Given the description of an element on the screen output the (x, y) to click on. 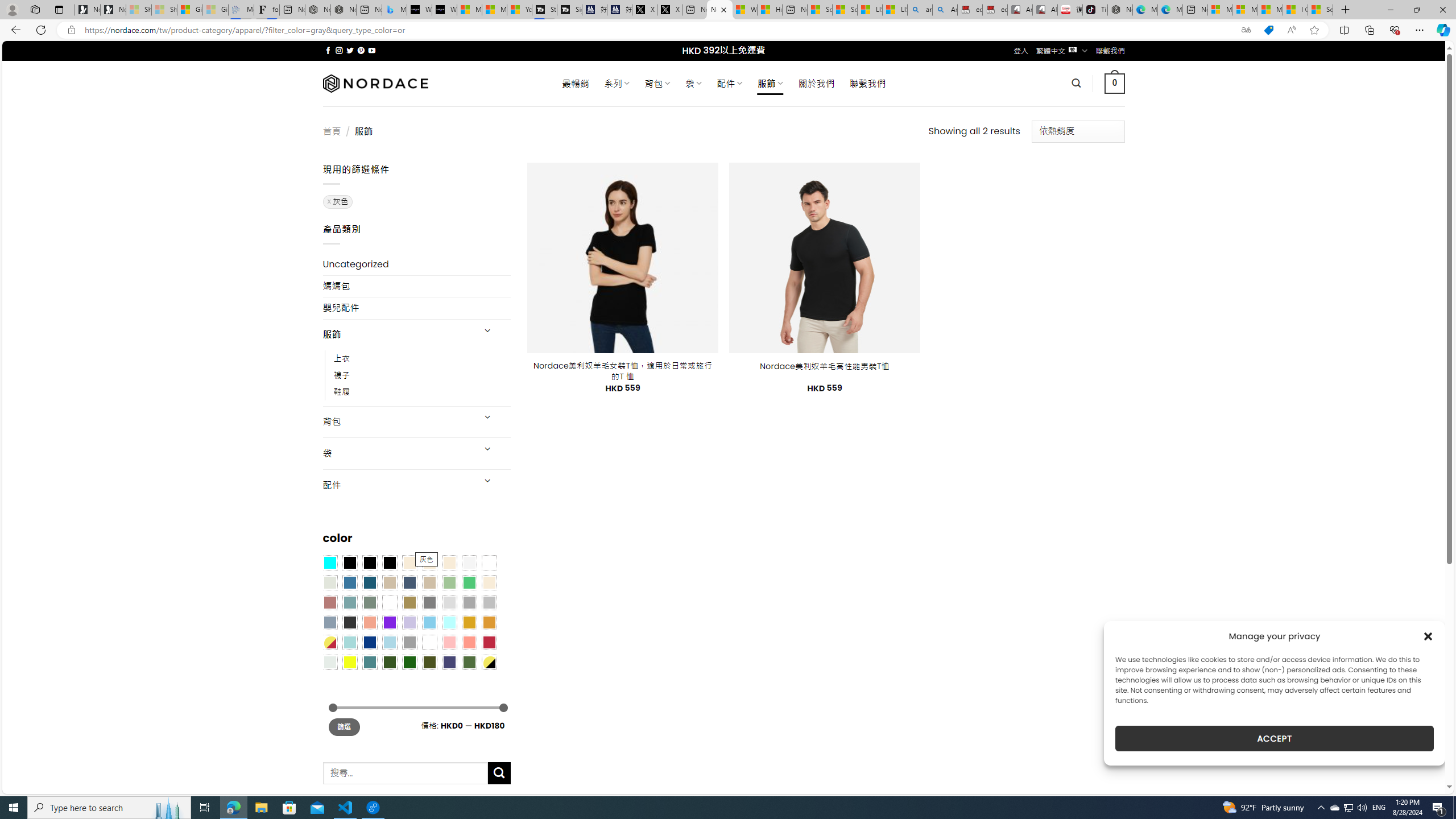
TikTok (1094, 9)
Microsoft account | Privacy (1244, 9)
Nordace - #1 Japanese Best-Seller - Siena Smart Backpack (343, 9)
